Given the description of an element on the screen output the (x, y) to click on. 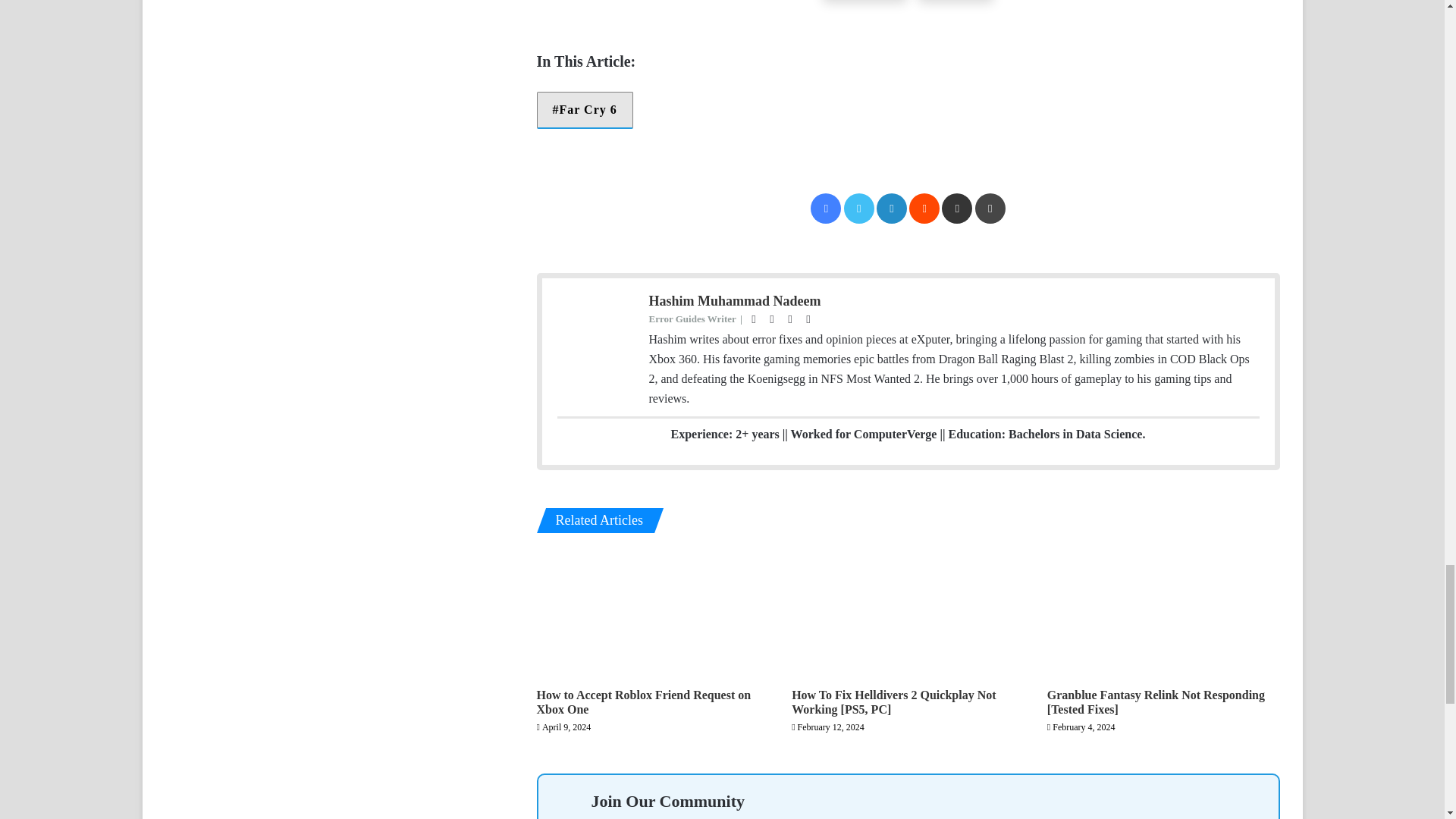
Facebook (825, 208)
Reddit (923, 208)
LinkedIn (891, 208)
Twitter (859, 208)
Print (990, 208)
Share via Email (957, 208)
